Given the description of an element on the screen output the (x, y) to click on. 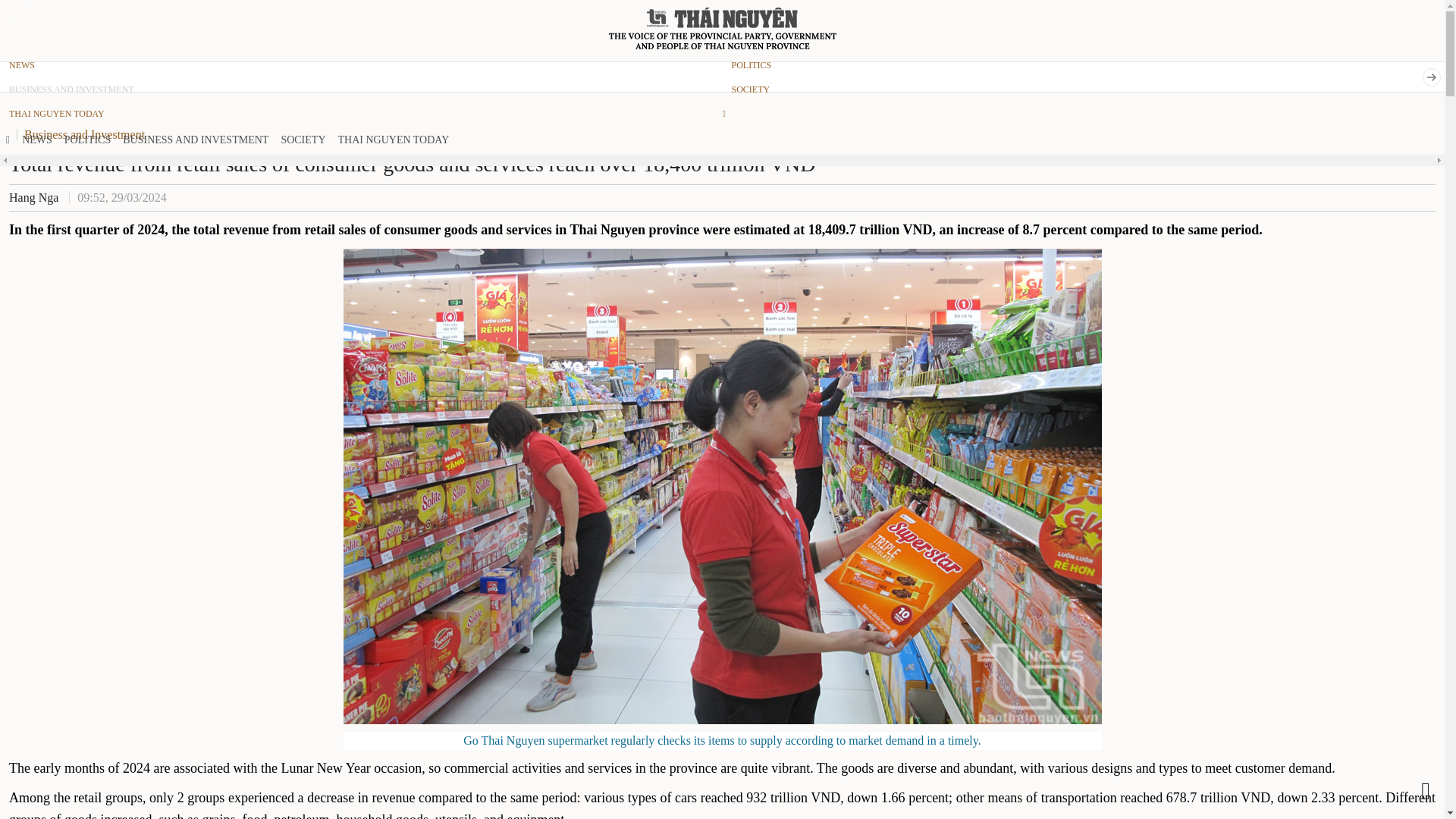
BUSINESS AND INVESTMENT (361, 88)
BUSINESS AND INVESTMENT (195, 140)
THAI NGUYEN TODAY (361, 113)
NEWS (37, 140)
THAI NGUYEN TODAY (393, 140)
Business and Investment (88, 133)
NEWS (361, 64)
POLITICS (87, 140)
SOCIETY (303, 140)
